Given the description of an element on the screen output the (x, y) to click on. 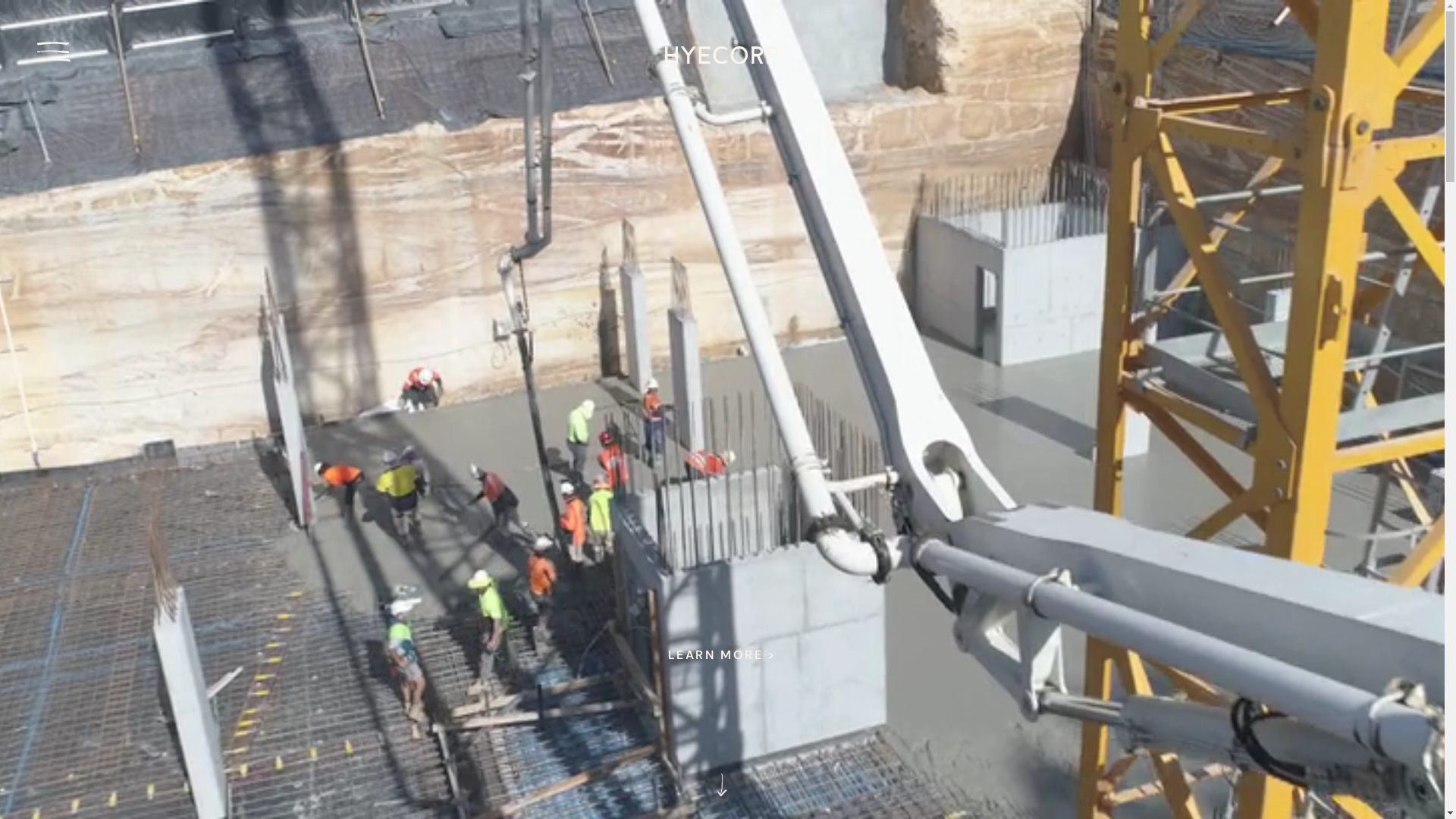
LEARN MORE > Element type: text (721, 655)
